Given the description of an element on the screen output the (x, y) to click on. 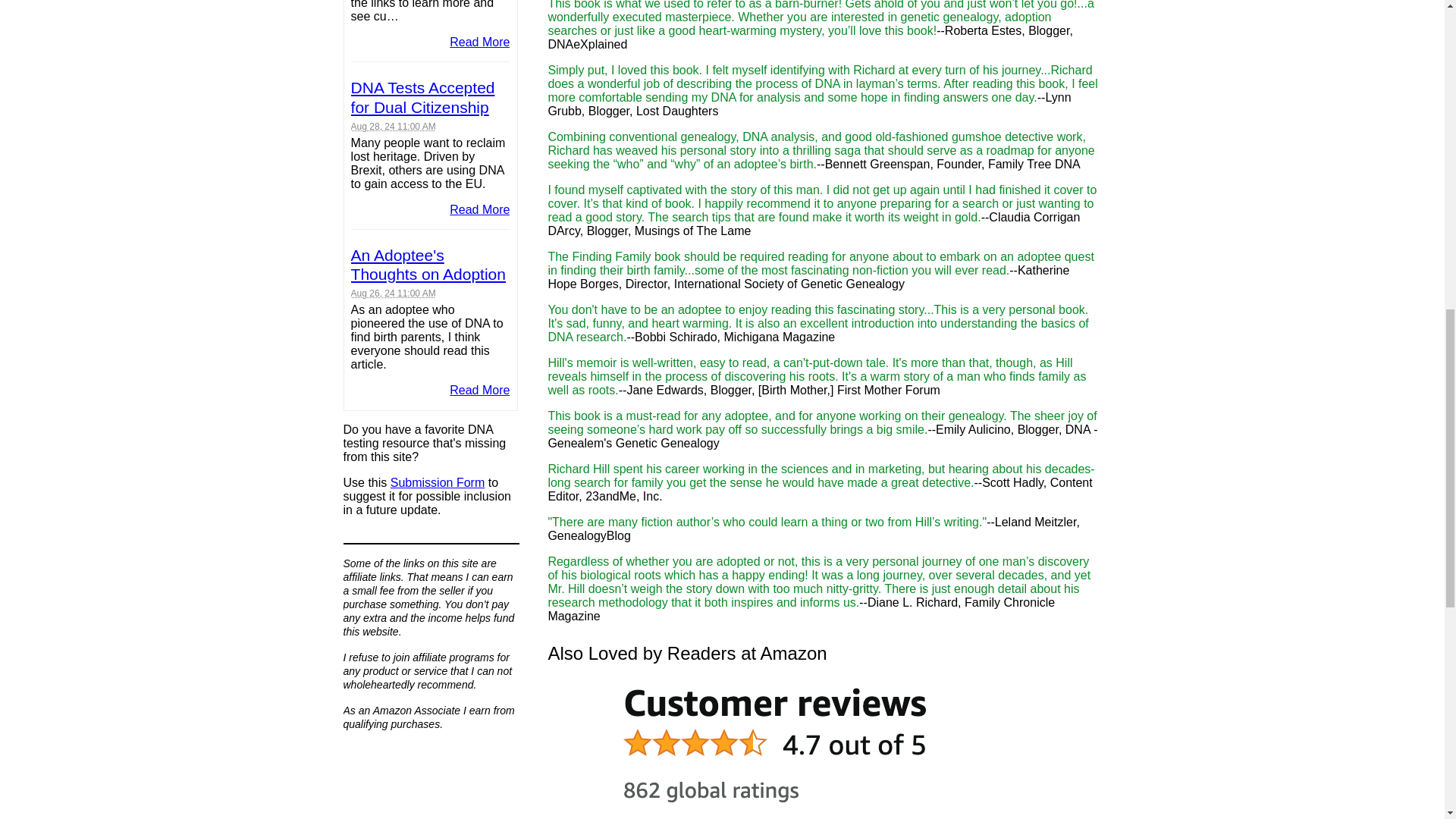
Amazon Reviews (823, 747)
2024-08-28T11:00:00-0400 (392, 126)
2024-08-26T11:00:00-0400 (392, 293)
